Given the description of an element on the screen output the (x, y) to click on. 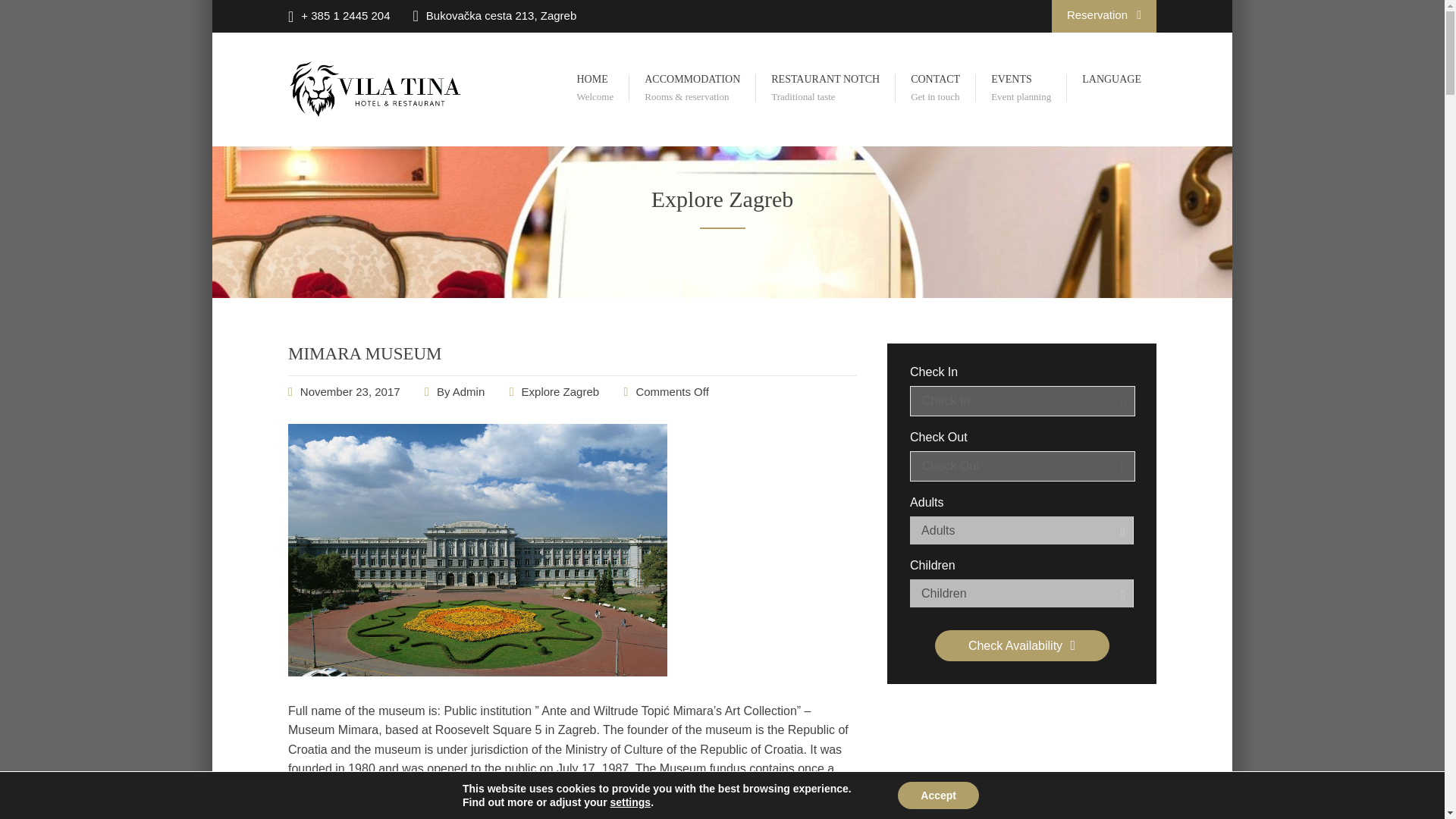
November 23, 2017 (825, 88)
Admin (349, 391)
Check Out (468, 391)
Reservation (1022, 466)
Check In (1103, 16)
MIMARA MUSEUM (1022, 400)
LANGUAGE (365, 353)
MIMARA MUSEUM (1111, 80)
Posts by Admin (365, 353)
MIMARA MUSEUM (468, 391)
English (349, 391)
MIMARA MUSEUM (1111, 80)
Explore Zagreb (477, 671)
